Given the description of an element on the screen output the (x, y) to click on. 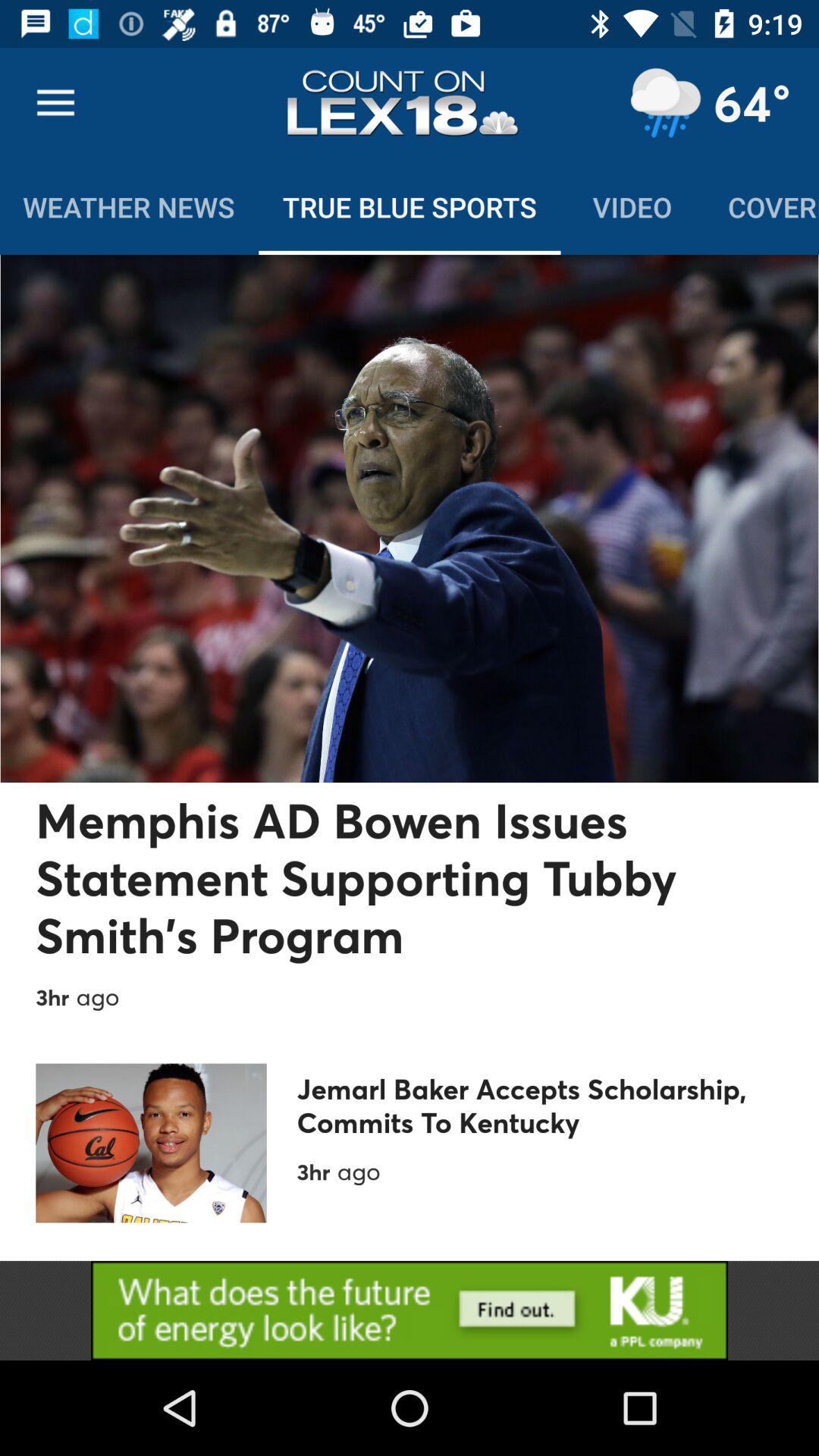
weather (665, 103)
